Given the description of an element on the screen output the (x, y) to click on. 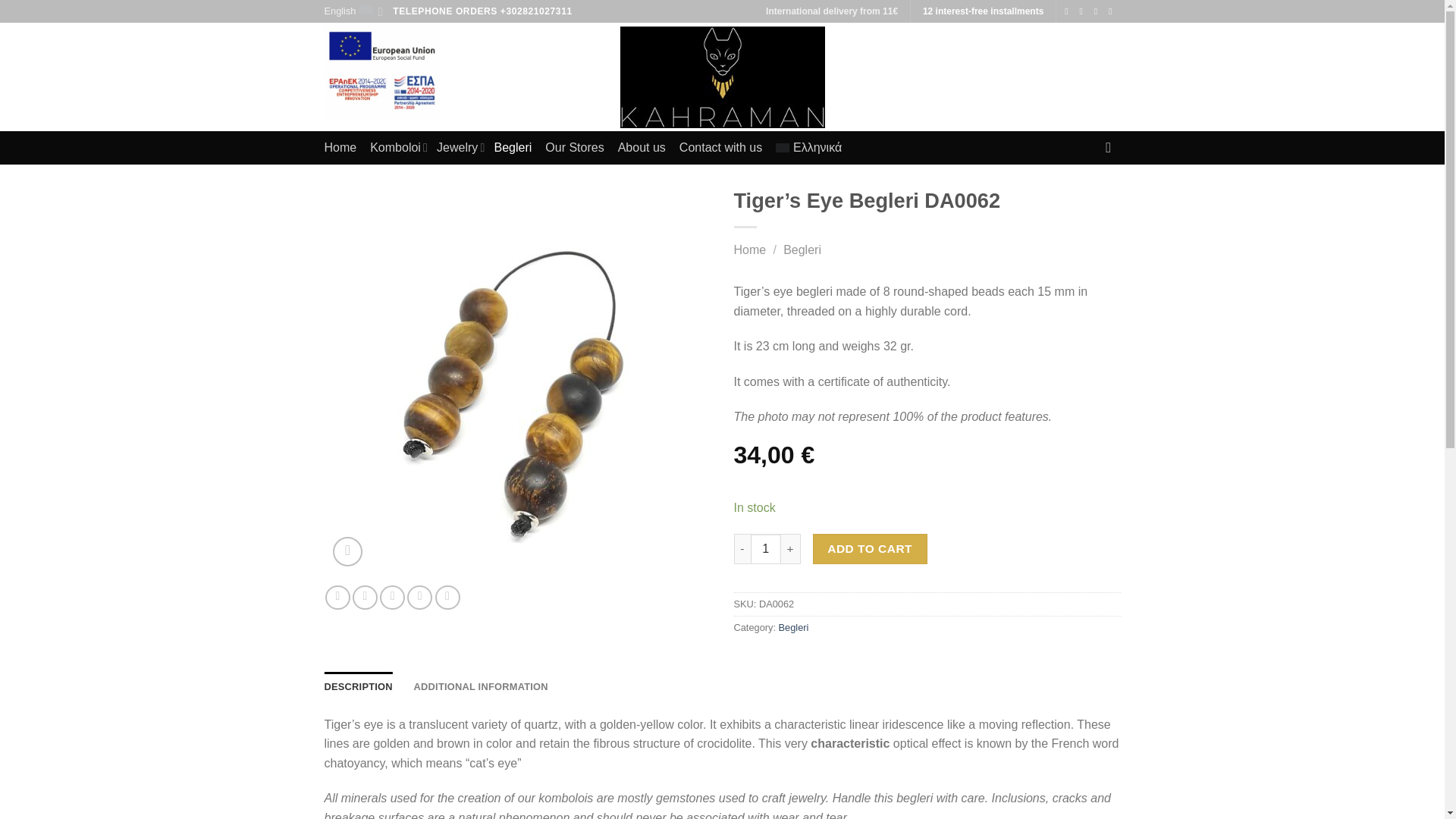
Pin on Pinterest (419, 597)
Komboloi (396, 147)
Share on Tumblr (447, 597)
1 (765, 548)
Share on Facebook (337, 597)
Cart (1097, 77)
Email to a Friend (392, 597)
English (351, 11)
Share on Twitter (364, 597)
Home (340, 147)
